Given the description of an element on the screen output the (x, y) to click on. 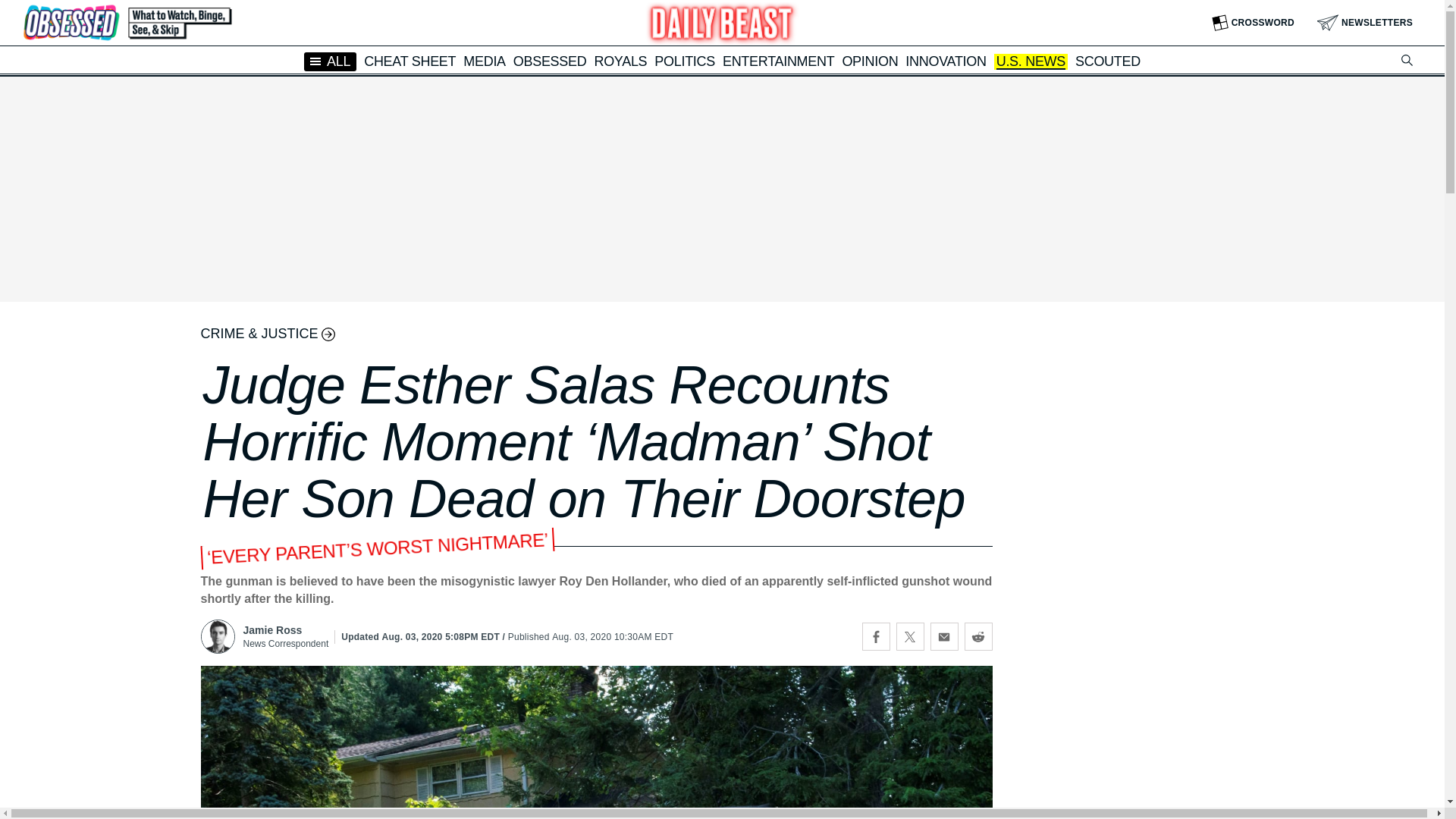
CROSSWORD (1252, 22)
U.S. NEWS (1030, 61)
OBSESSED (549, 60)
ALL (330, 60)
ROYALS (620, 60)
POLITICS (683, 60)
SCOUTED (1107, 60)
ENTERTAINMENT (778, 60)
CHEAT SHEET (409, 60)
OPINION (869, 60)
